Given the description of an element on the screen output the (x, y) to click on. 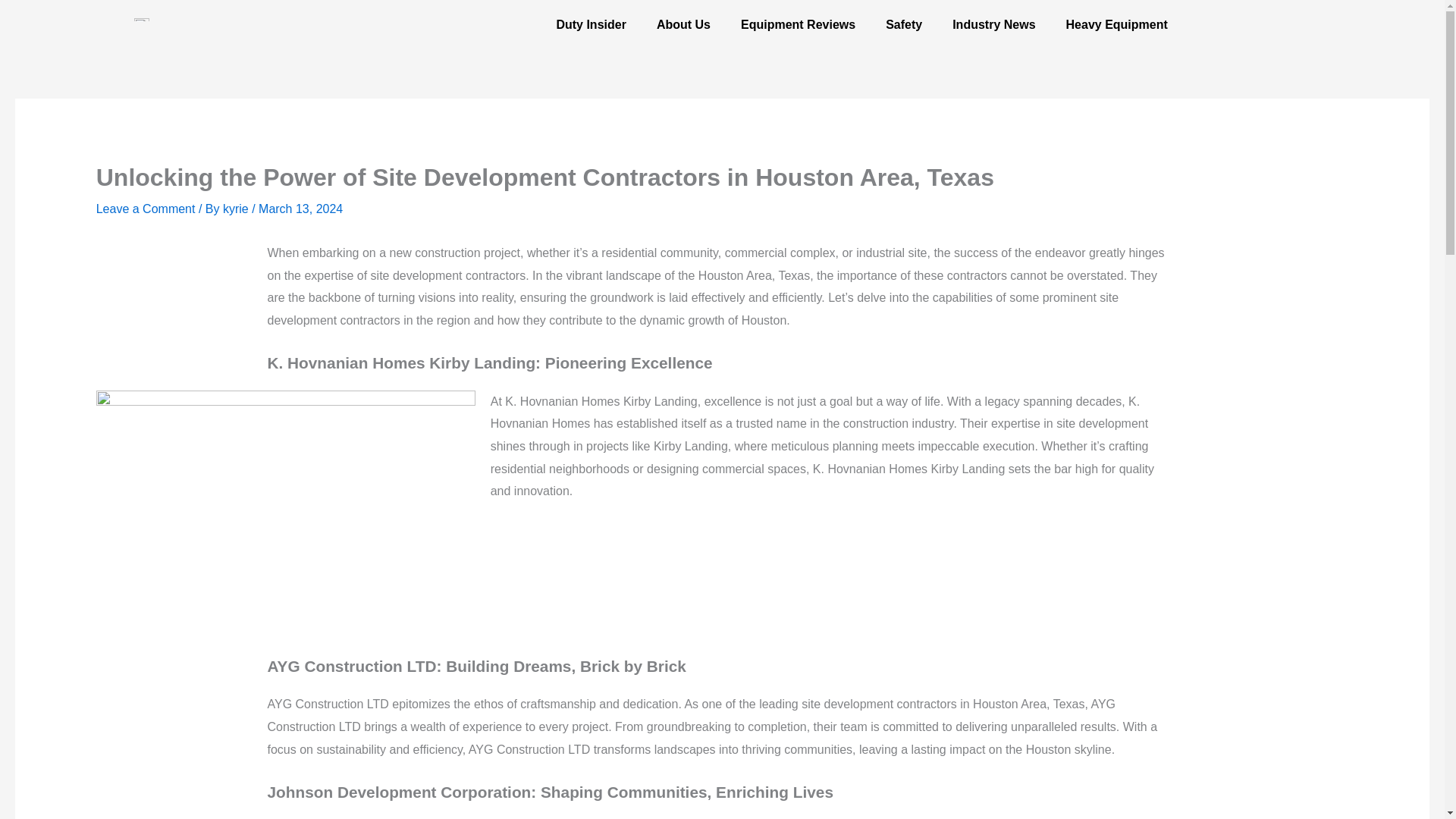
Heavy Equipment (1116, 24)
About Us (683, 24)
View all posts by kyrie (236, 208)
Industry News (993, 24)
Leave a Comment (145, 208)
kyrie (236, 208)
Equipment Reviews (797, 24)
Duty Insider (590, 24)
Safety (903, 24)
